Given the description of an element on the screen output the (x, y) to click on. 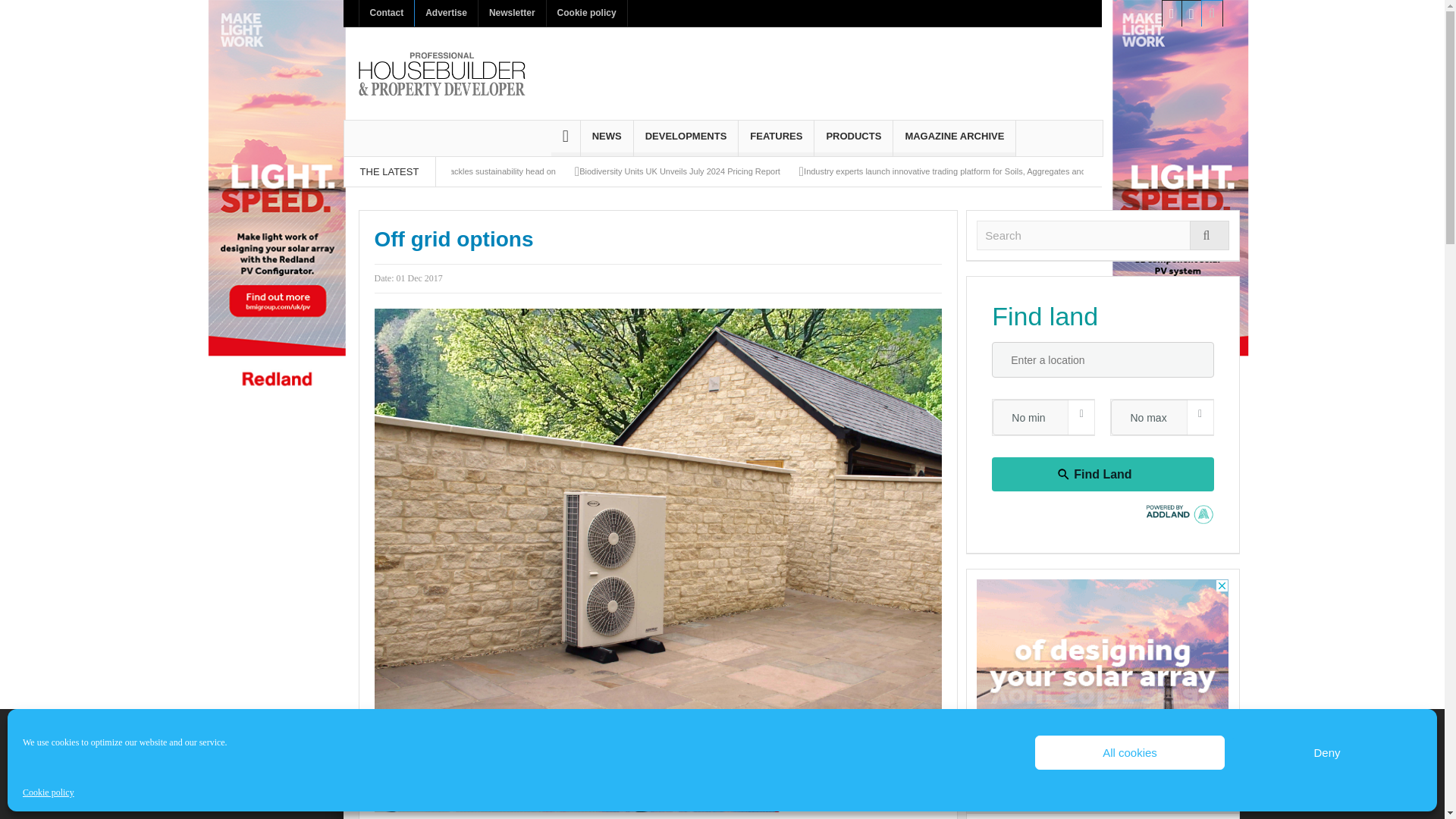
Min price (1062, 416)
MAGAZINE ARCHIVE (953, 138)
Newsletter (512, 13)
Cookie policy (48, 792)
PRODUCTS (852, 138)
DEVELOPMENTS (685, 138)
FEATURES (775, 138)
Contact (386, 13)
Search (1102, 235)
Biodiversity Units UK Unveils July 2024 Pricing Report (679, 171)
